Given the description of an element on the screen output the (x, y) to click on. 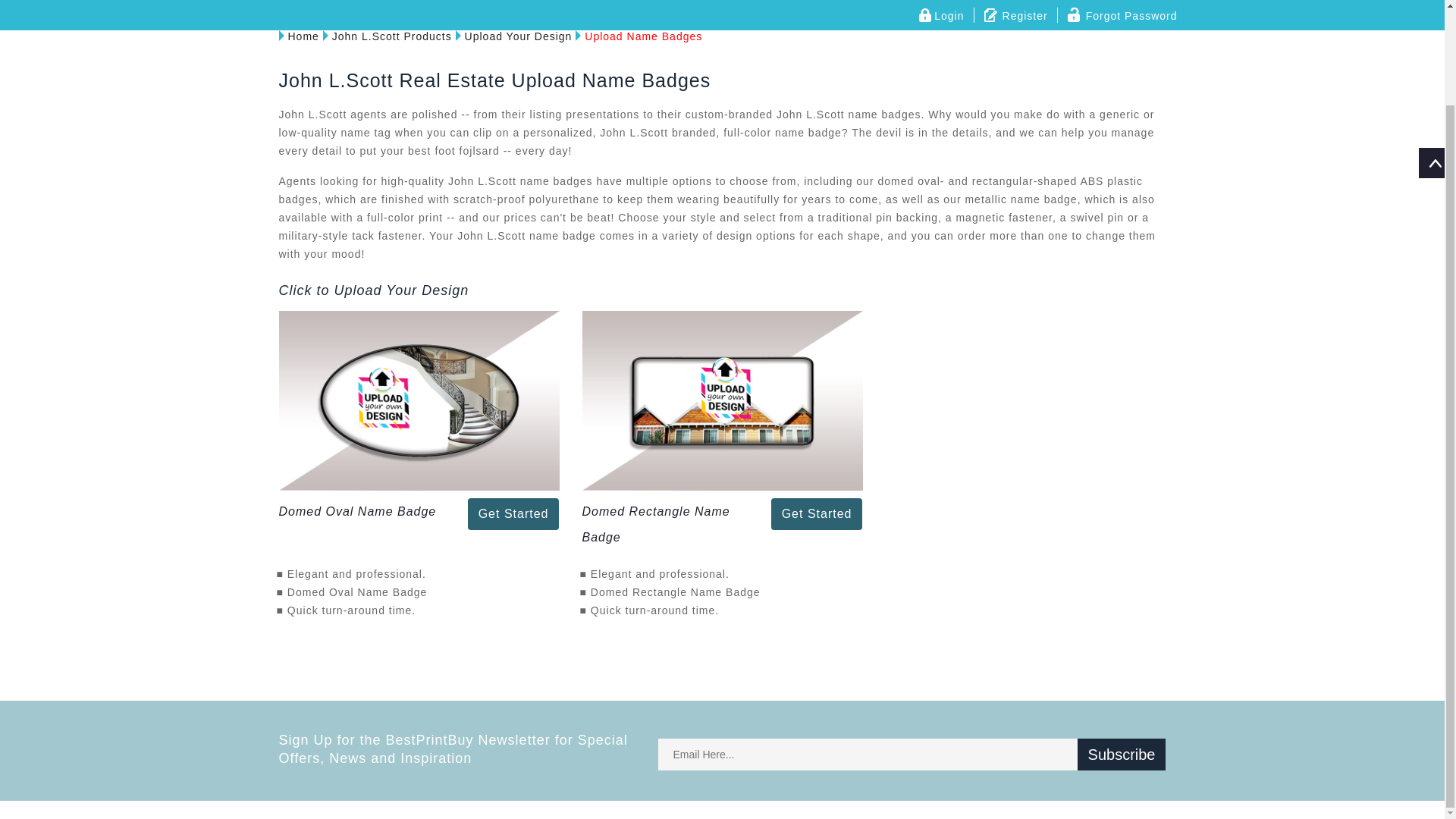
Stationery (658, 6)
Signs (719, 6)
New Agent Packages (946, 6)
Business Cards (443, 6)
Subscribe (1121, 754)
All Products (349, 6)
Marketing Materials (558, 6)
Services (1047, 6)
Business Cards (443, 6)
Promotional Products (812, 6)
All Products (349, 6)
Marketing Materials (558, 6)
